Given the description of an element on the screen output the (x, y) to click on. 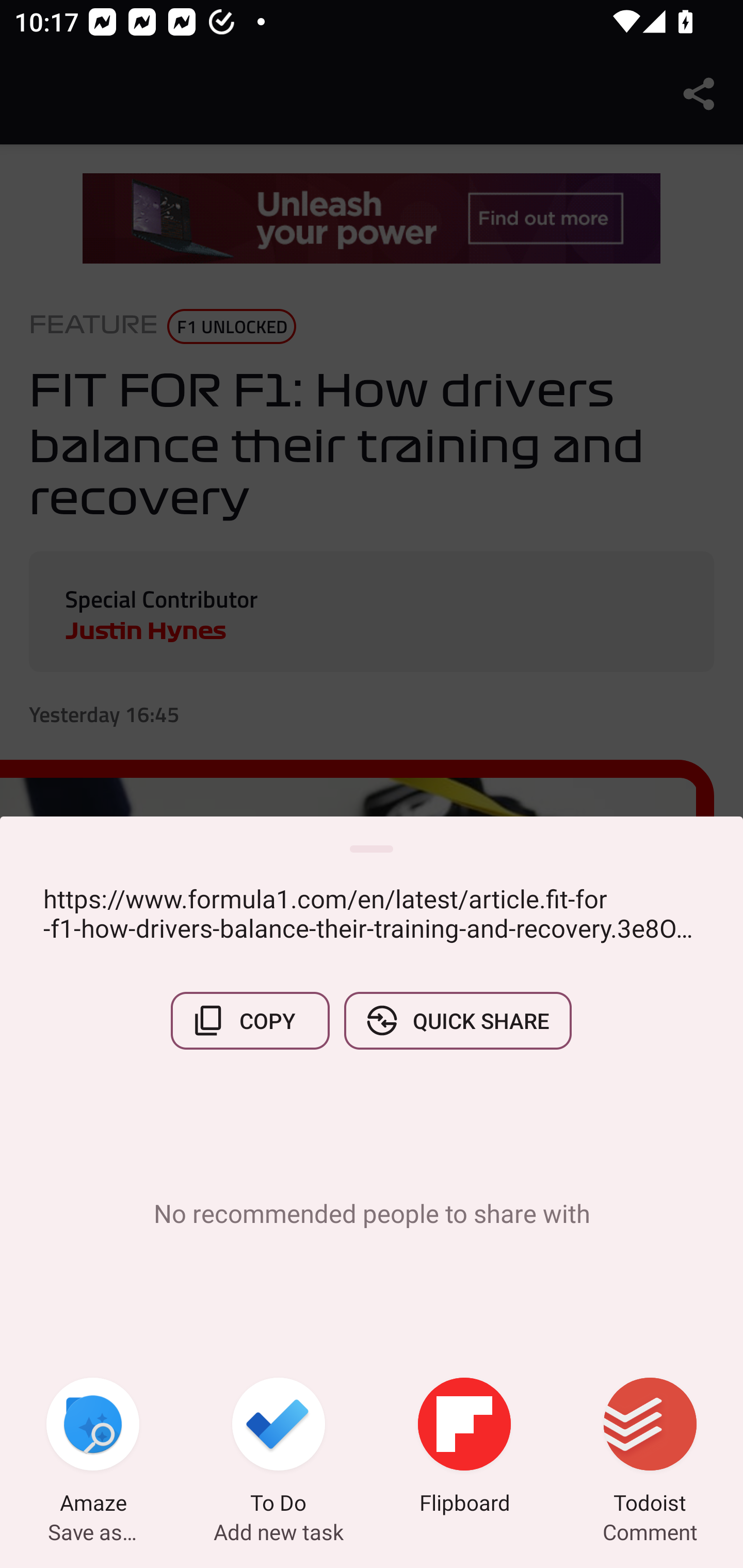
COPY (249, 1020)
QUICK SHARE (457, 1020)
Amaze Save as… (92, 1448)
To Do Add new task (278, 1448)
Flipboard (464, 1448)
Todoist Comment (650, 1448)
